Given the description of an element on the screen output the (x, y) to click on. 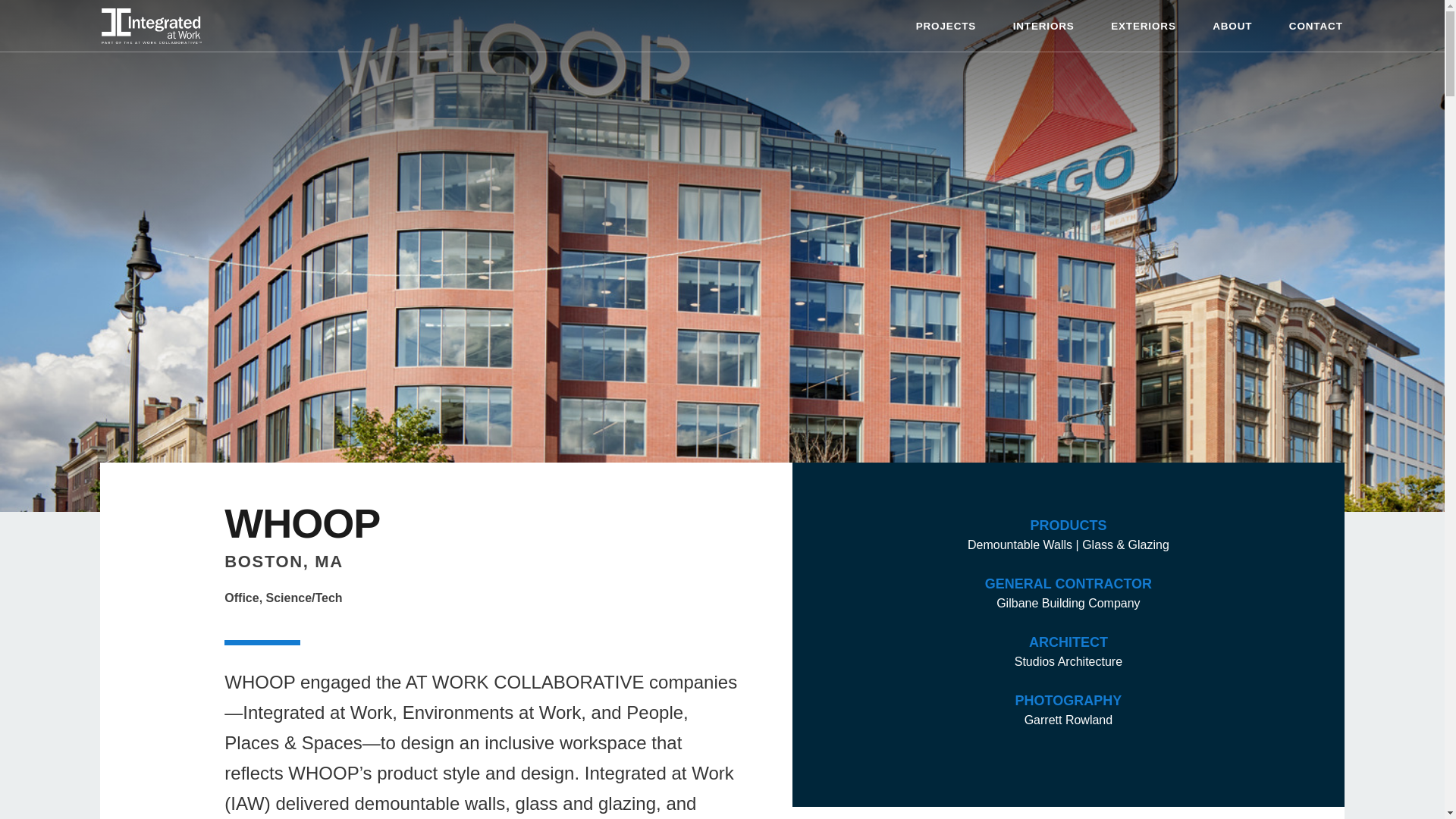
CONTACT (1315, 26)
PROJECTS (945, 26)
INTERIORS (1042, 26)
EXTERIORS (1143, 26)
ABOUT (1231, 26)
